Given the description of an element on the screen output the (x, y) to click on. 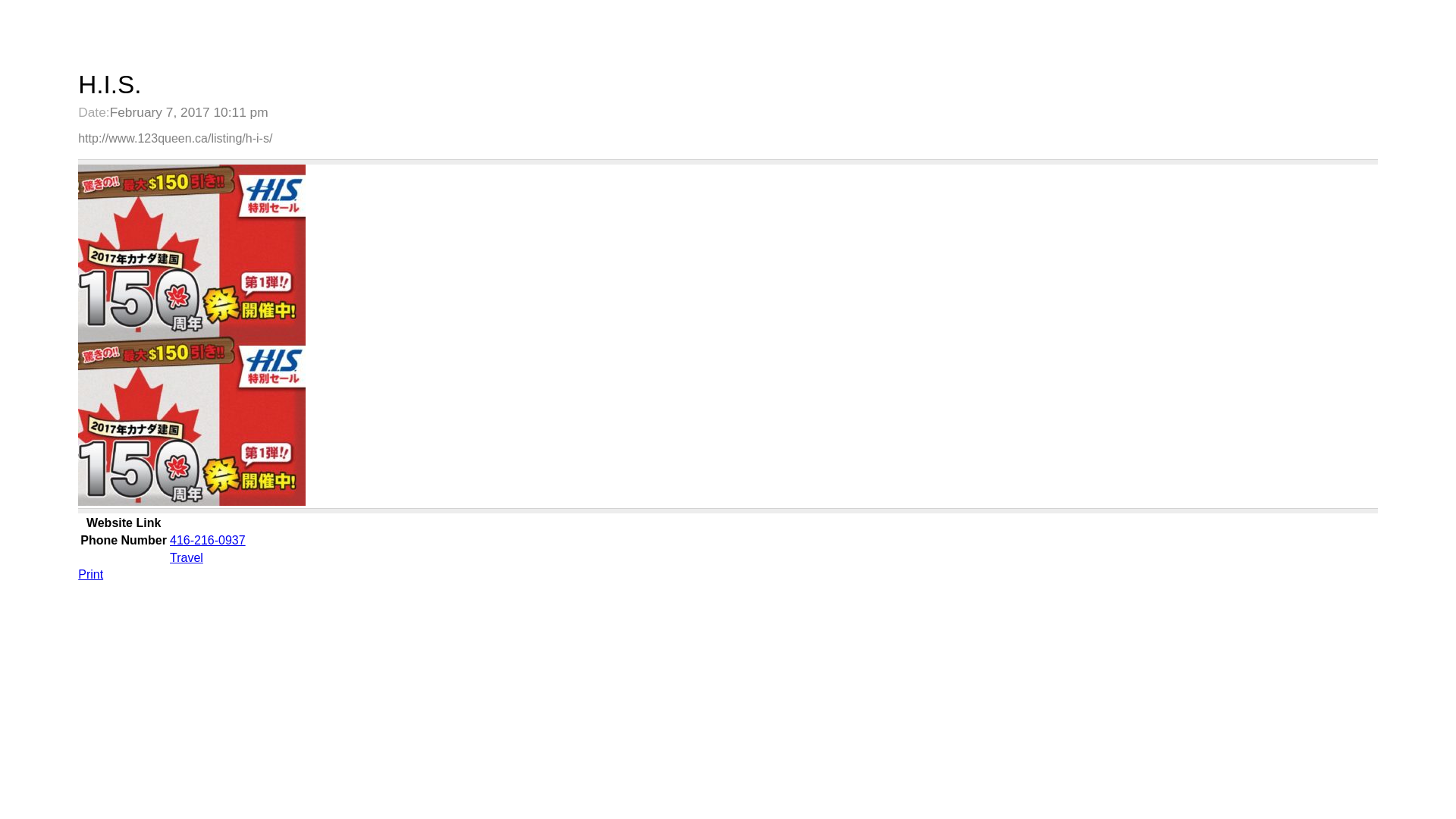
Travel Element type: text (186, 557)
416-216-0937 Element type: text (207, 539)
Print Element type: text (90, 573)
